Given the description of an element on the screen output the (x, y) to click on. 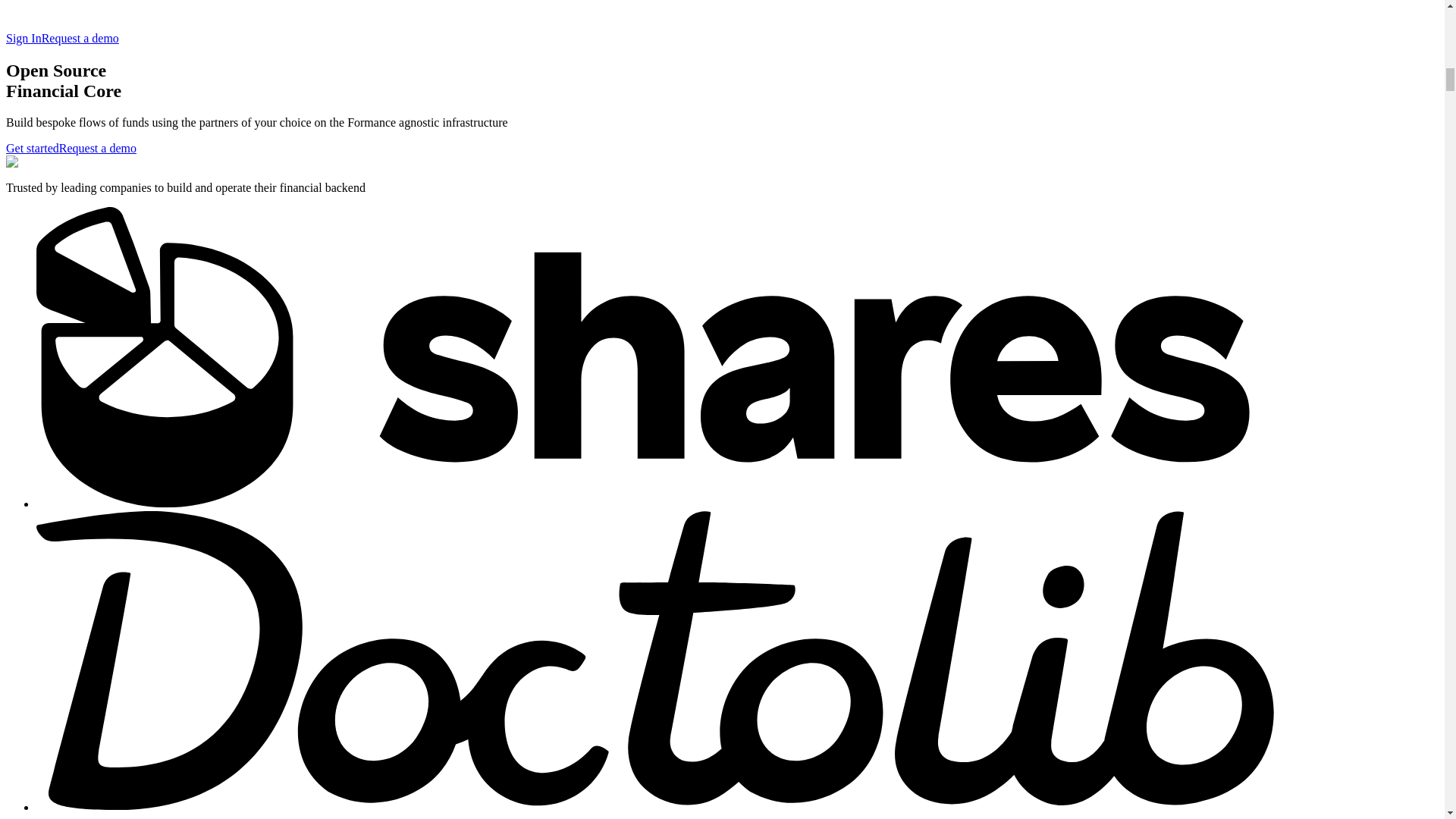
Request a demo (80, 38)
Request a demo (97, 147)
Get started (32, 147)
Sign In (23, 38)
